Given the description of an element on the screen output the (x, y) to click on. 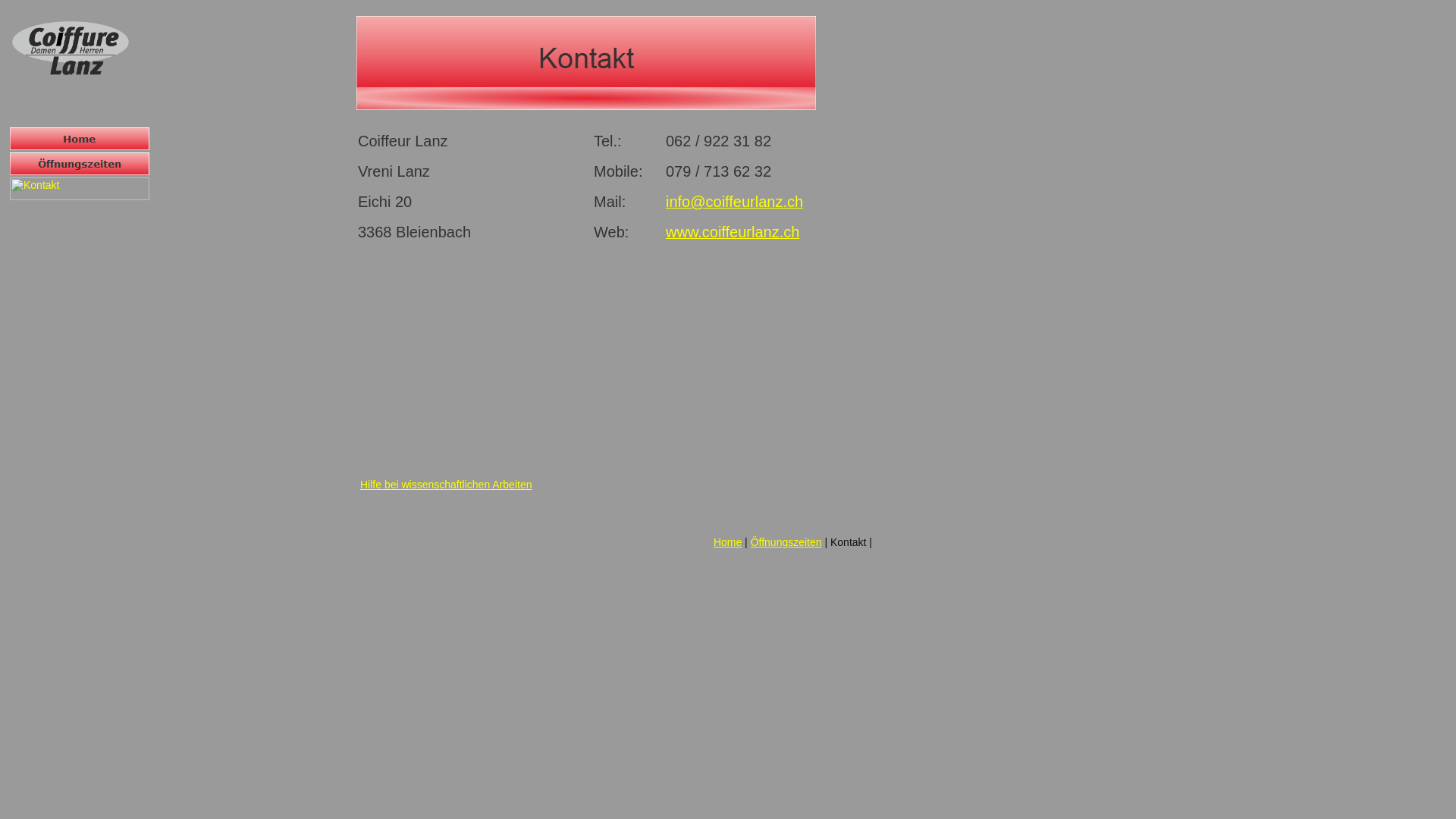
Kontakt Element type: hover (585, 62)
www.coiffeurlanz.ch Element type: text (732, 233)
Home Element type: text (727, 542)
Logo Element type: hover (70, 48)
Hilfe bei wissenschaftlichen Arbeiten Element type: text (445, 484)
Home Element type: hover (79, 138)
info@coiffeurlanz.ch Element type: text (734, 203)
Kontakt Element type: hover (79, 188)
